Given the description of an element on the screen output the (x, y) to click on. 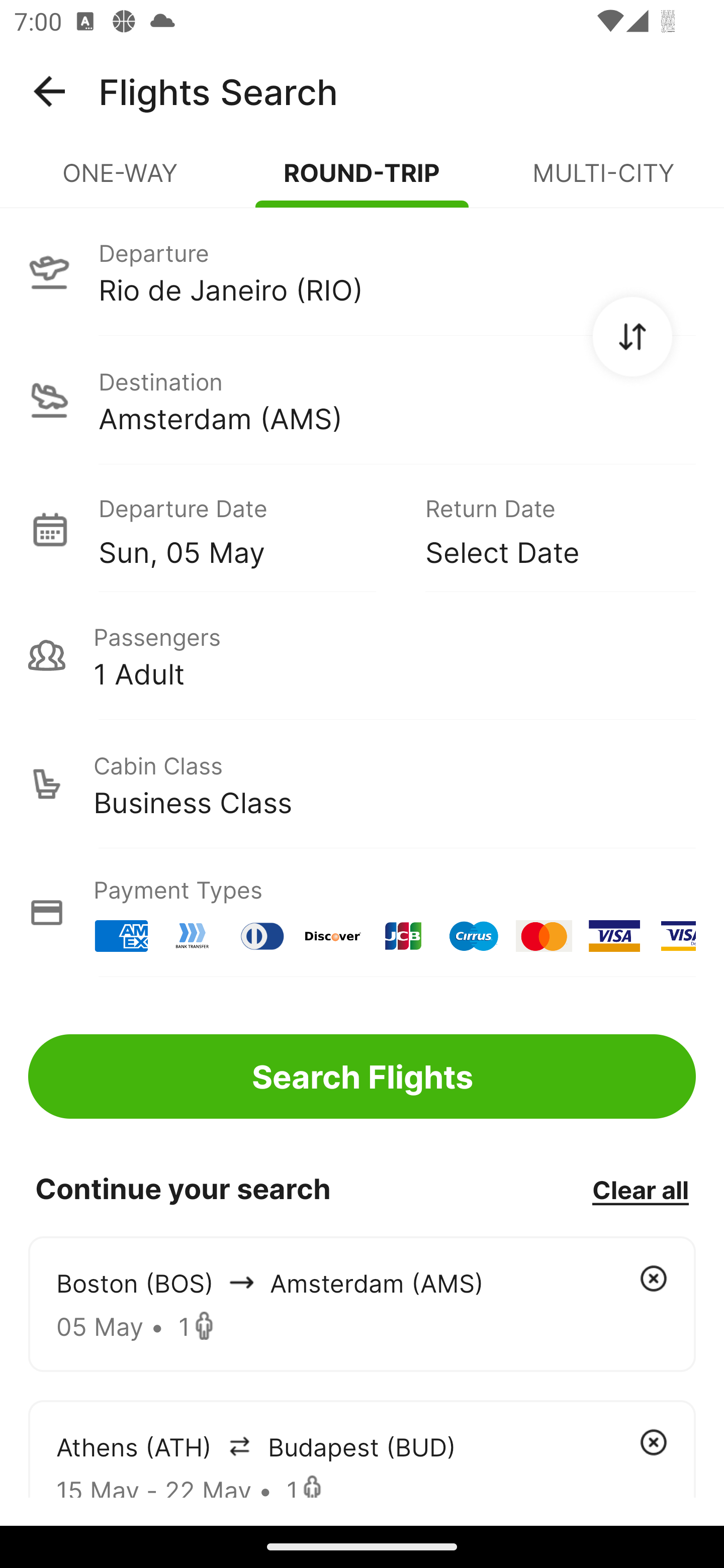
ONE-WAY (120, 180)
ROUND-TRIP (361, 180)
MULTI-CITY (603, 180)
Departure Rio de Janeiro (RIO) (362, 270)
Destination Amsterdam (AMS) (362, 400)
Departure Date Sun, 05 May (247, 528)
Return Date Select Date (546, 528)
Passengers 1 Adult (362, 655)
Cabin Class Business Class (362, 783)
Payment Types (362, 912)
Search Flights (361, 1075)
Clear all (640, 1189)
